Given the description of an element on the screen output the (x, y) to click on. 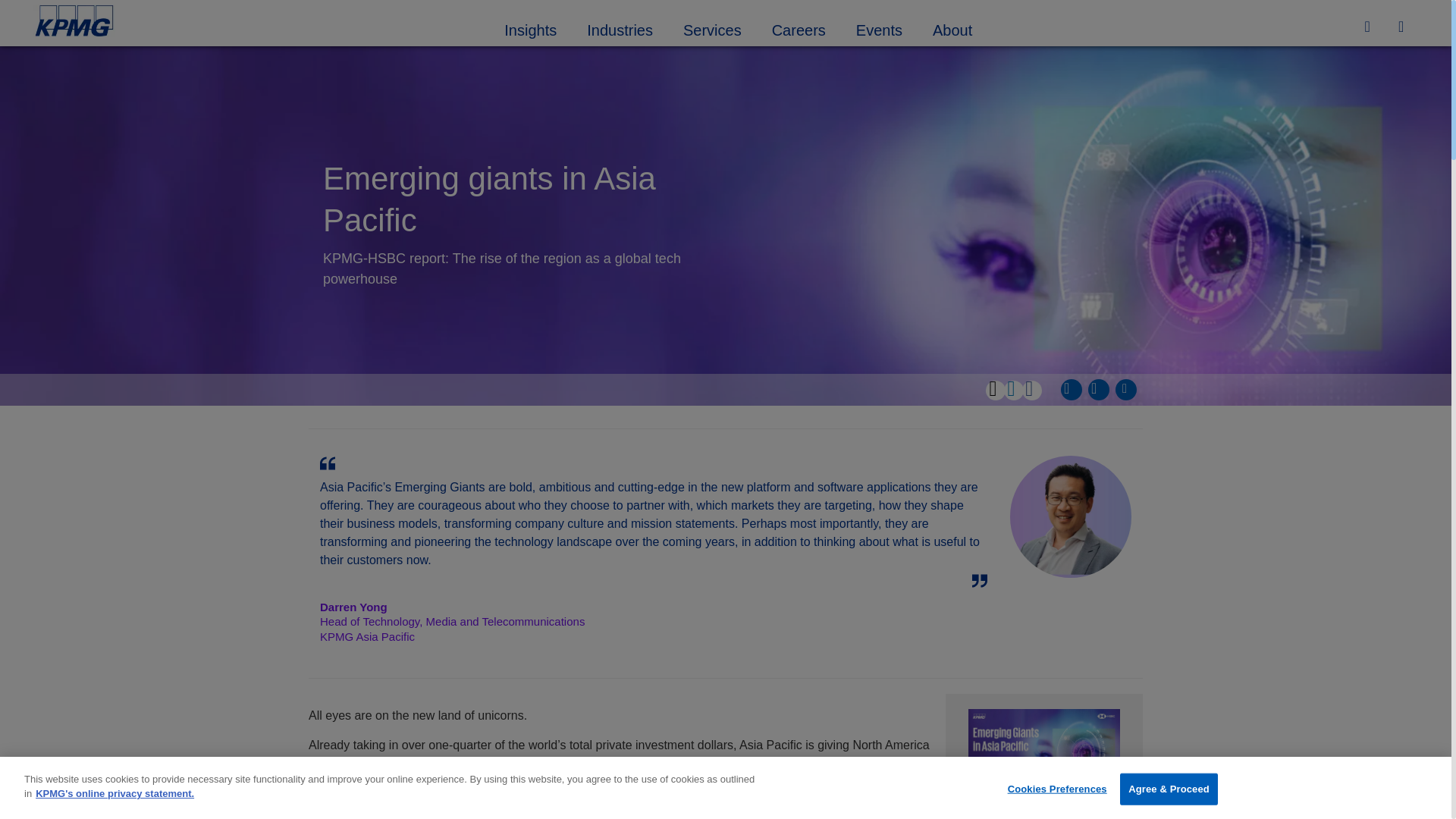
Industries (620, 28)
Services (712, 28)
Insights (530, 28)
Careers (799, 28)
